Given the description of an element on the screen output the (x, y) to click on. 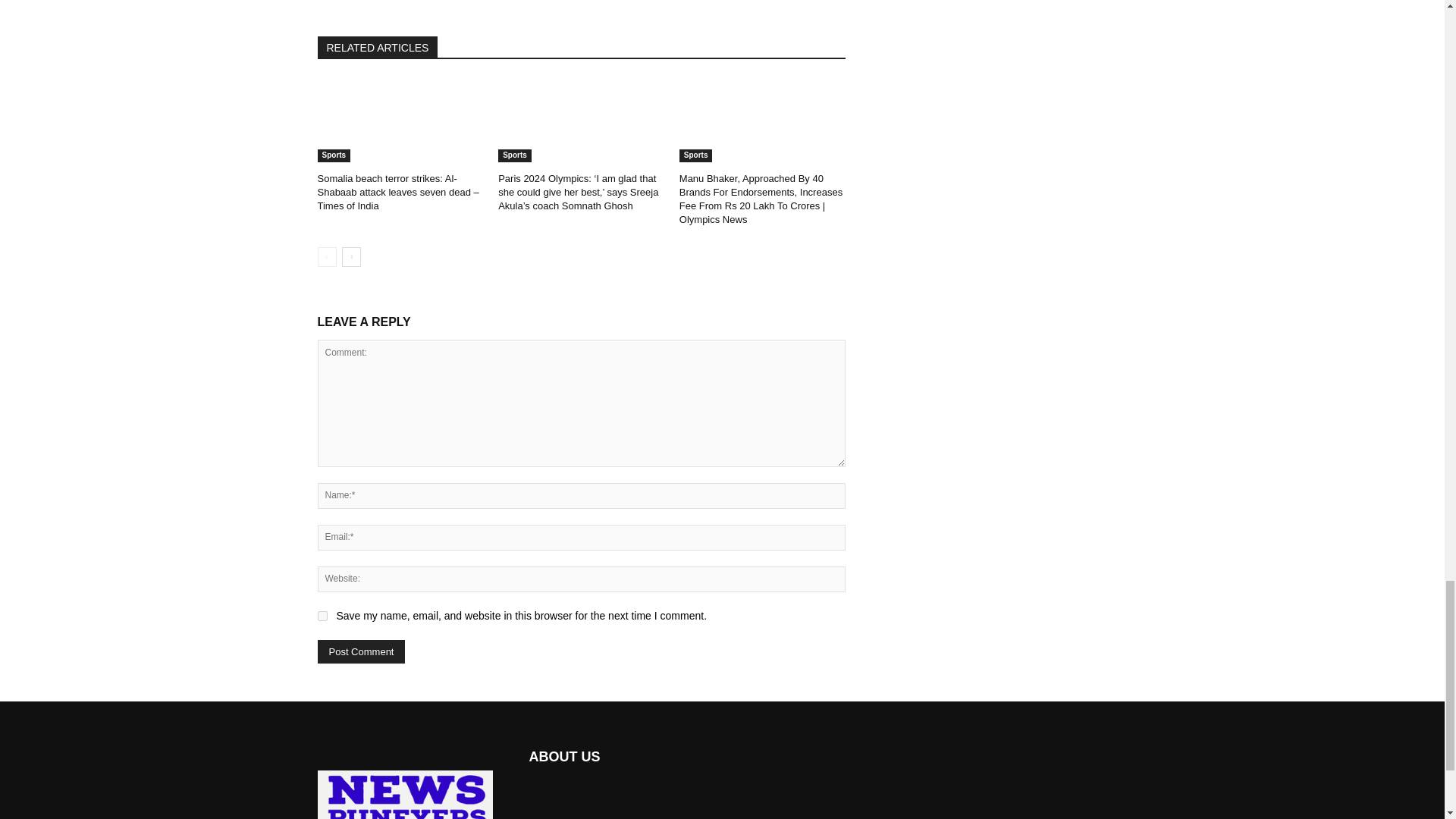
Post Comment (360, 651)
yes (321, 615)
